Given the description of an element on the screen output the (x, y) to click on. 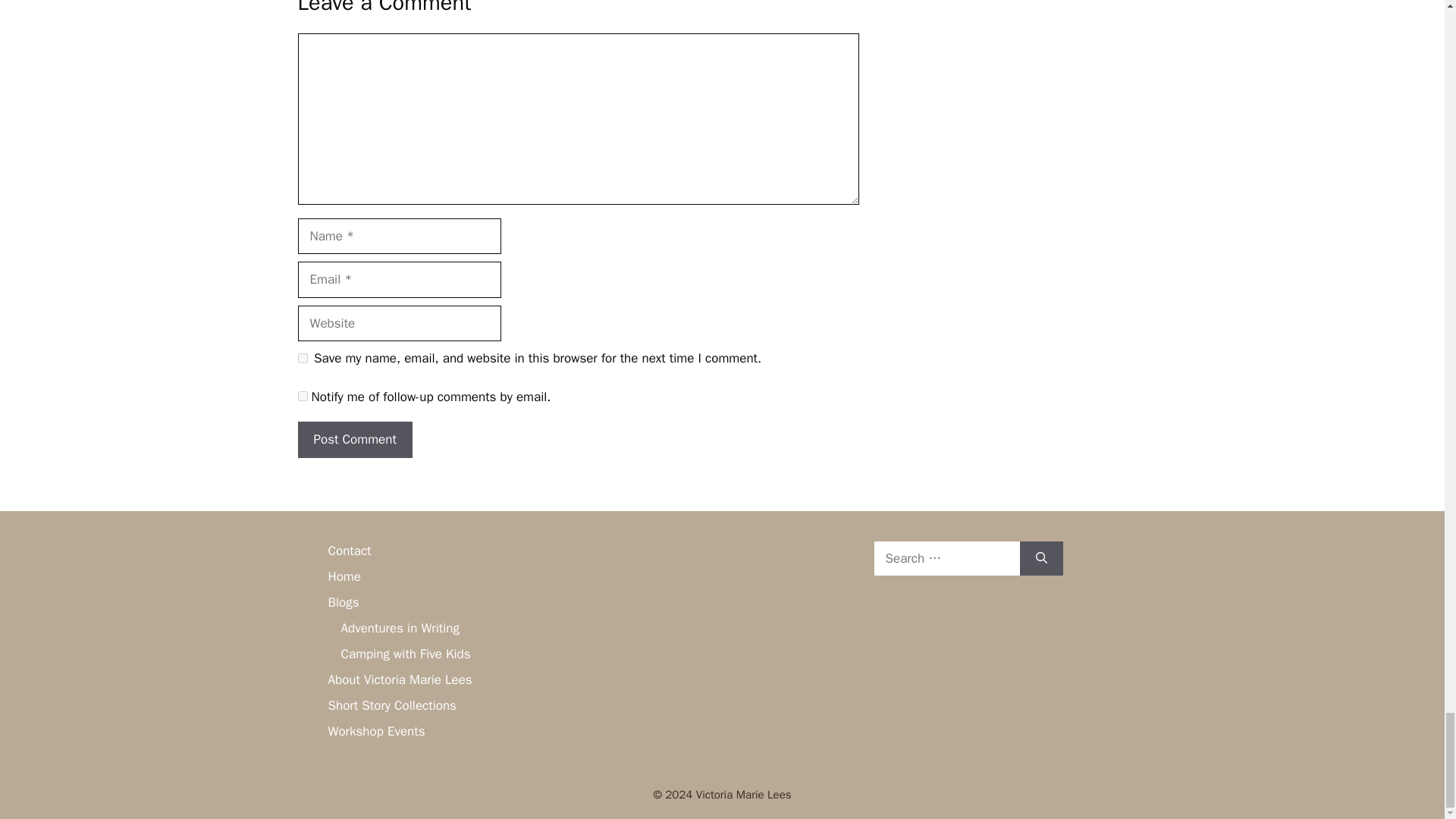
Post Comment (354, 439)
Search for: (946, 558)
yes (302, 357)
subscribe (302, 396)
